Given the description of an element on the screen output the (x, y) to click on. 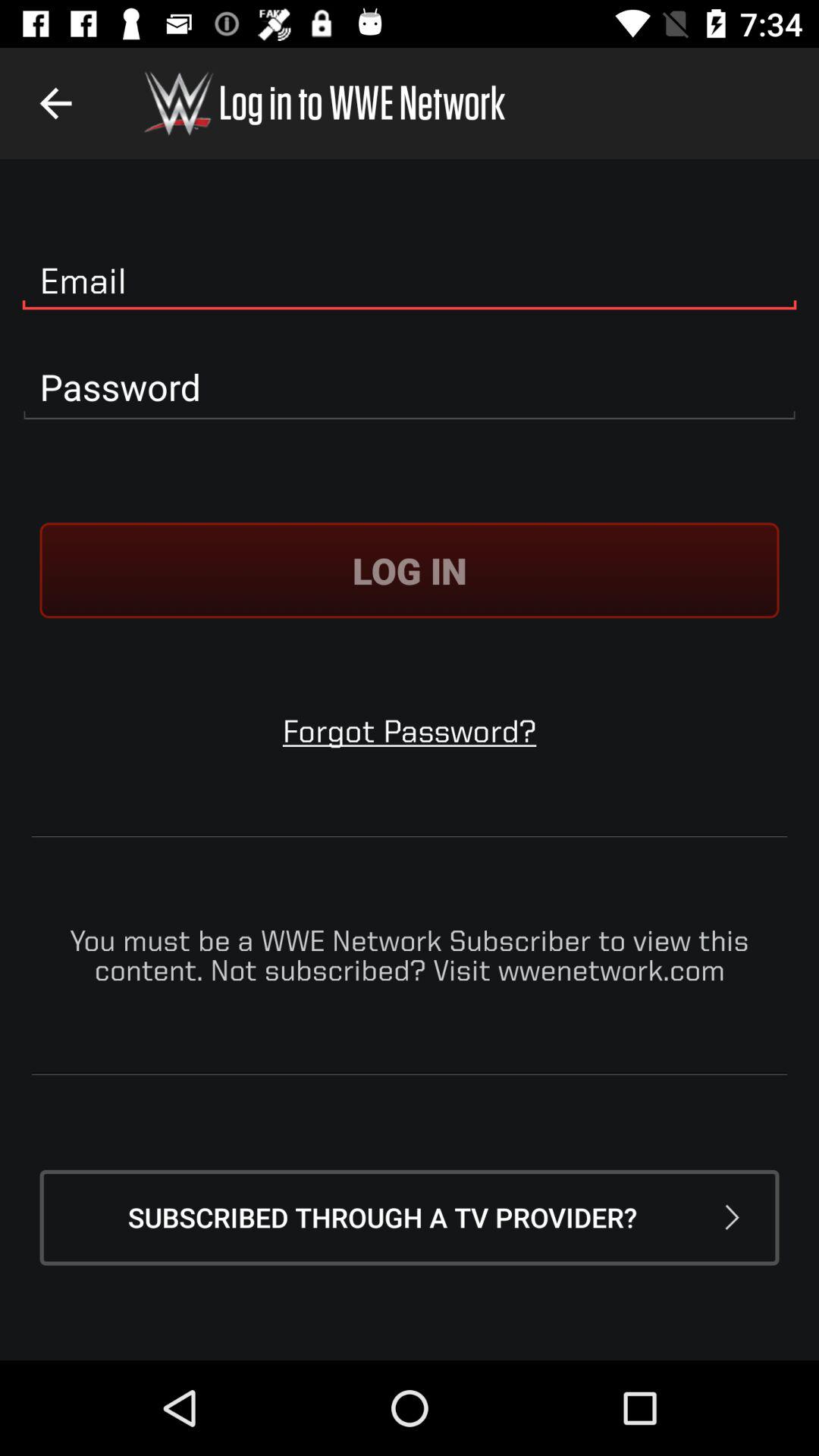
choose forgot password? (409, 730)
